Given the description of an element on the screen output the (x, y) to click on. 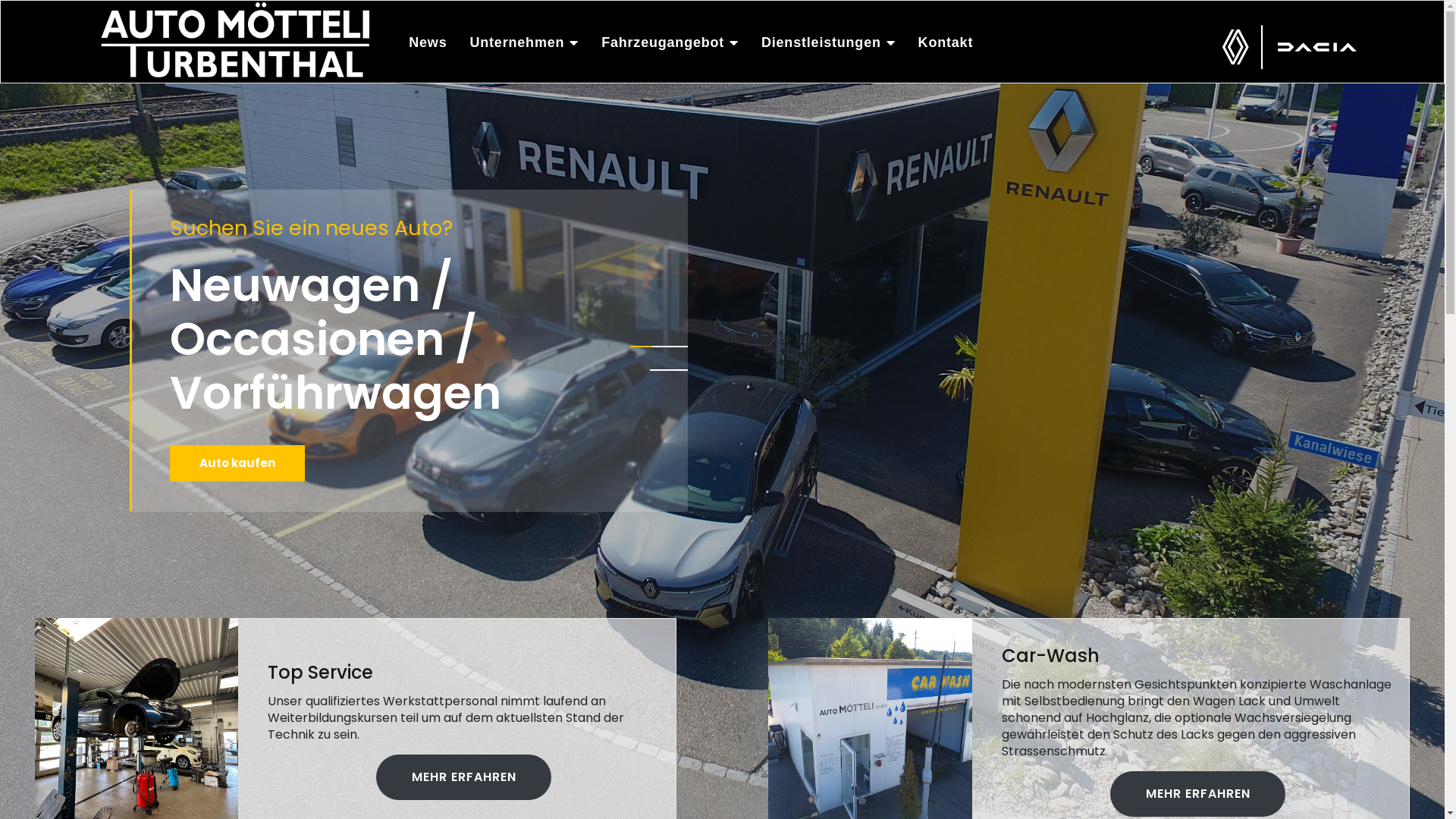
Dienstleistungen Element type: text (827, 42)
News Element type: text (427, 42)
Auto kaufen Element type: text (236, 481)
Unternehmen Element type: text (523, 42)
Kontakt Element type: text (945, 42)
MEHR ERFAHREN Element type: text (463, 777)
Fahrzeugangebot Element type: text (669, 42)
MEHR ERFAHREN Element type: text (1197, 793)
